Given the description of an element on the screen output the (x, y) to click on. 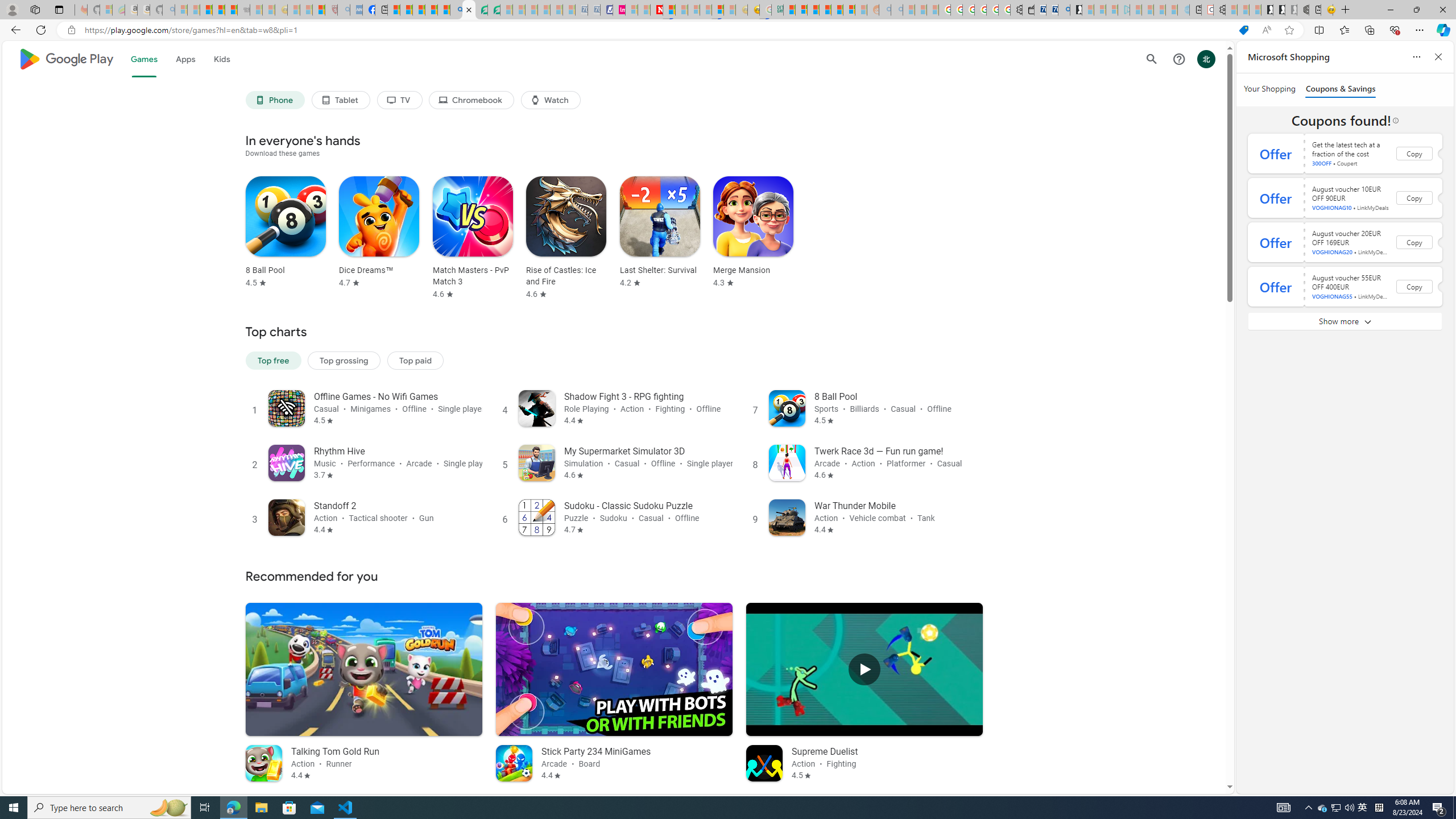
Play Supreme Duelist (864, 668)
Local - MSN (318, 9)
Microsoft Start Gaming (1075, 9)
Address and search bar (658, 29)
